Given the description of an element on the screen output the (x, y) to click on. 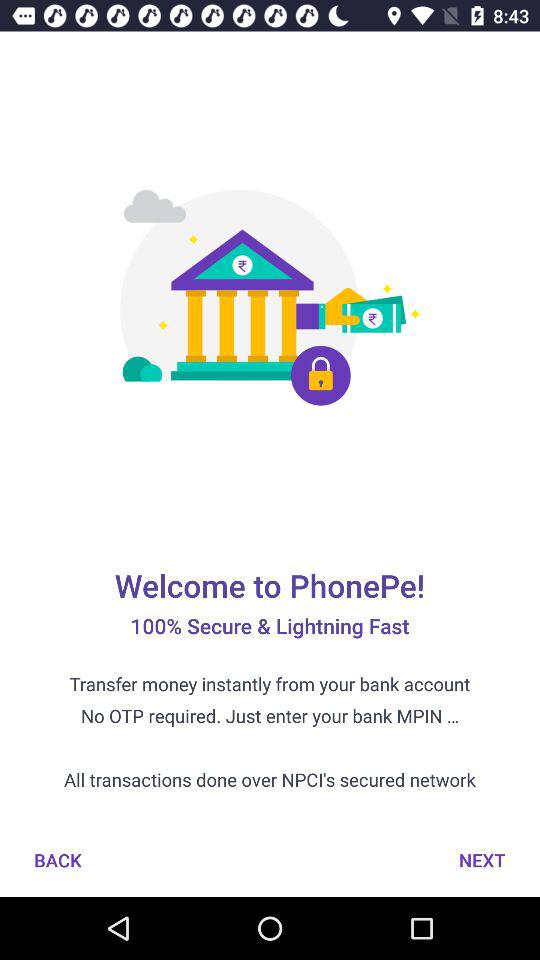
flip until the next item (482, 859)
